Given the description of an element on the screen output the (x, y) to click on. 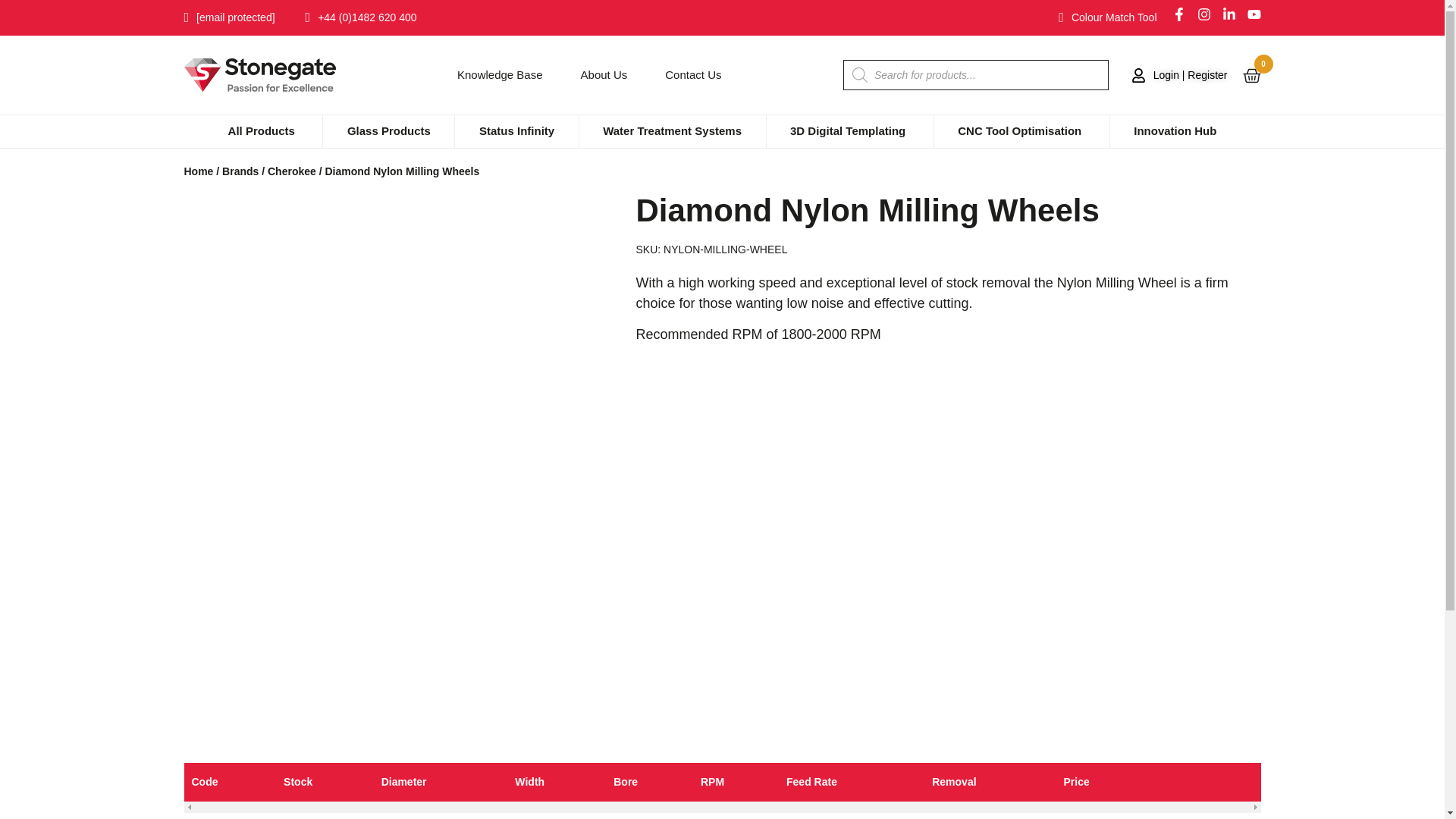
0 (1250, 75)
Colour Match Tool (1103, 17)
All Products (261, 131)
Knowledge Base (500, 75)
About Us (603, 75)
Contact Us (692, 75)
